Given the description of an element on the screen output the (x, y) to click on. 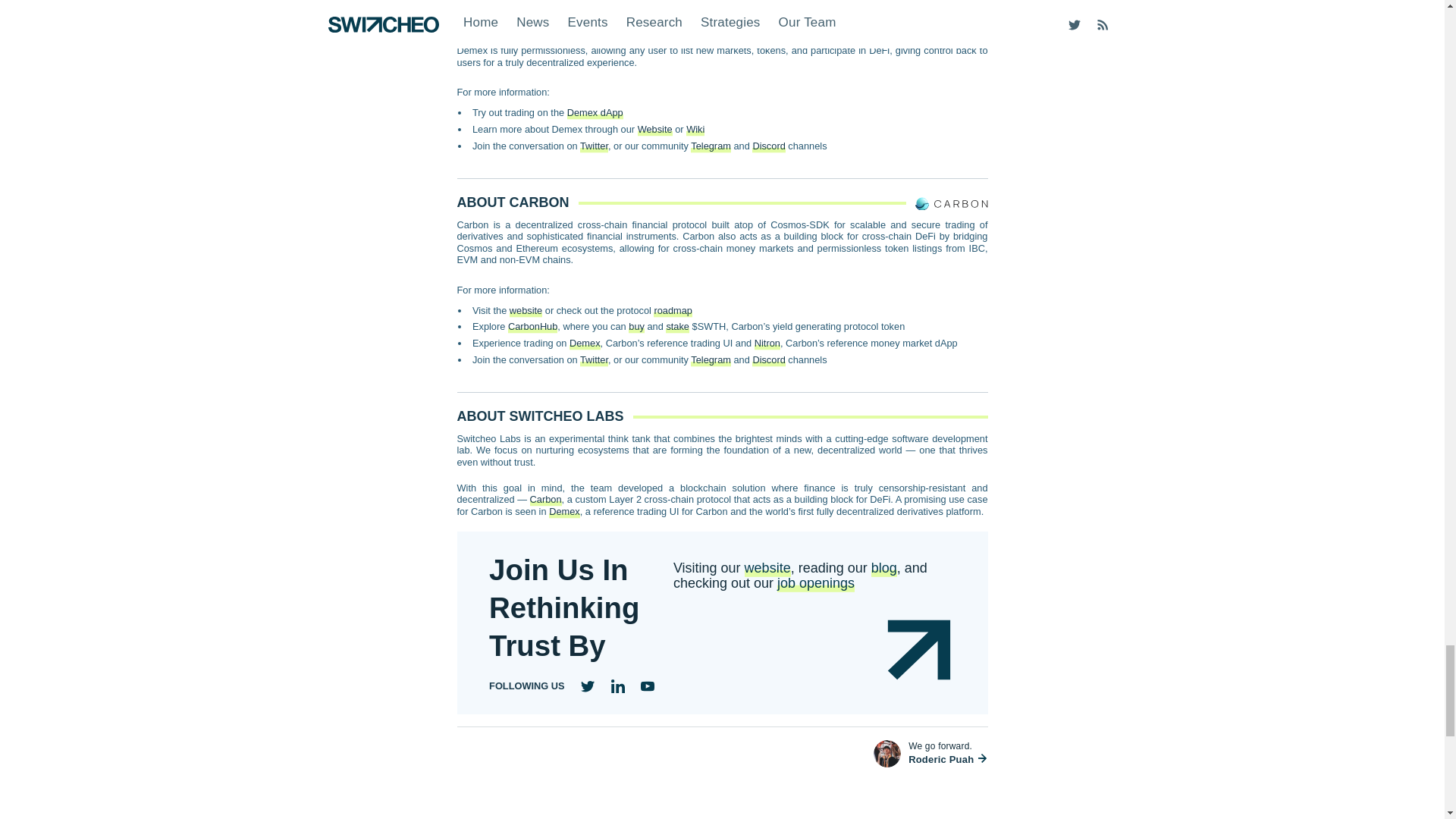
Carbon (886, 3)
roadmap (673, 310)
buy (636, 326)
website (525, 310)
Telegram (710, 145)
Demex dApp (595, 112)
Wiki (694, 129)
Twitter (593, 145)
Website (654, 129)
Discord (768, 145)
